Given the description of an element on the screen output the (x, y) to click on. 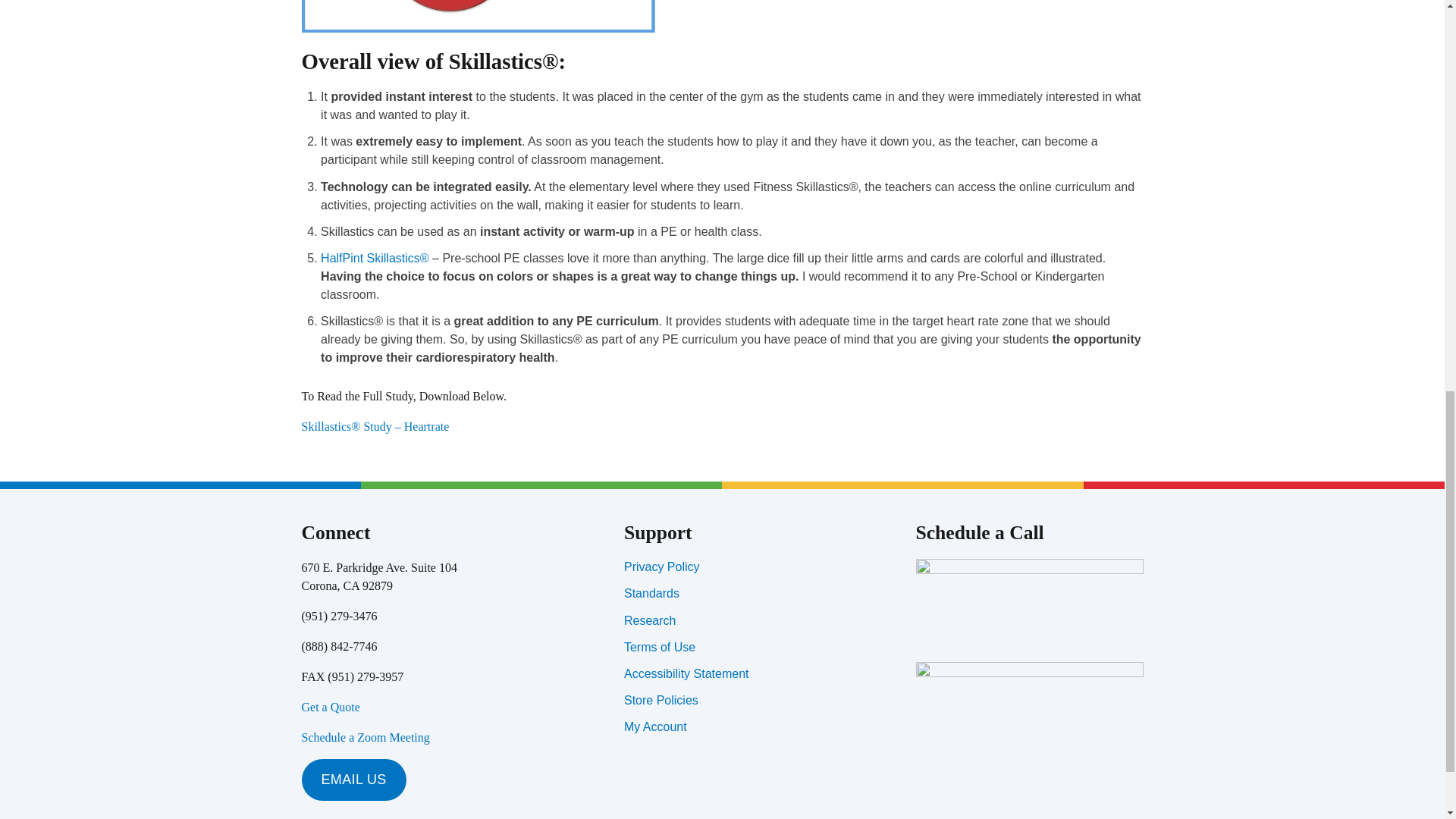
Store Policies (661, 699)
Privacy Policy (662, 566)
Schedule a Zoom Meeting (365, 737)
EMAIL US (353, 779)
Standards (651, 593)
Get a Quote (330, 707)
Research (649, 620)
Accessibility Statement (686, 673)
My Account (655, 726)
Terms of Use (659, 646)
